Given the description of an element on the screen output the (x, y) to click on. 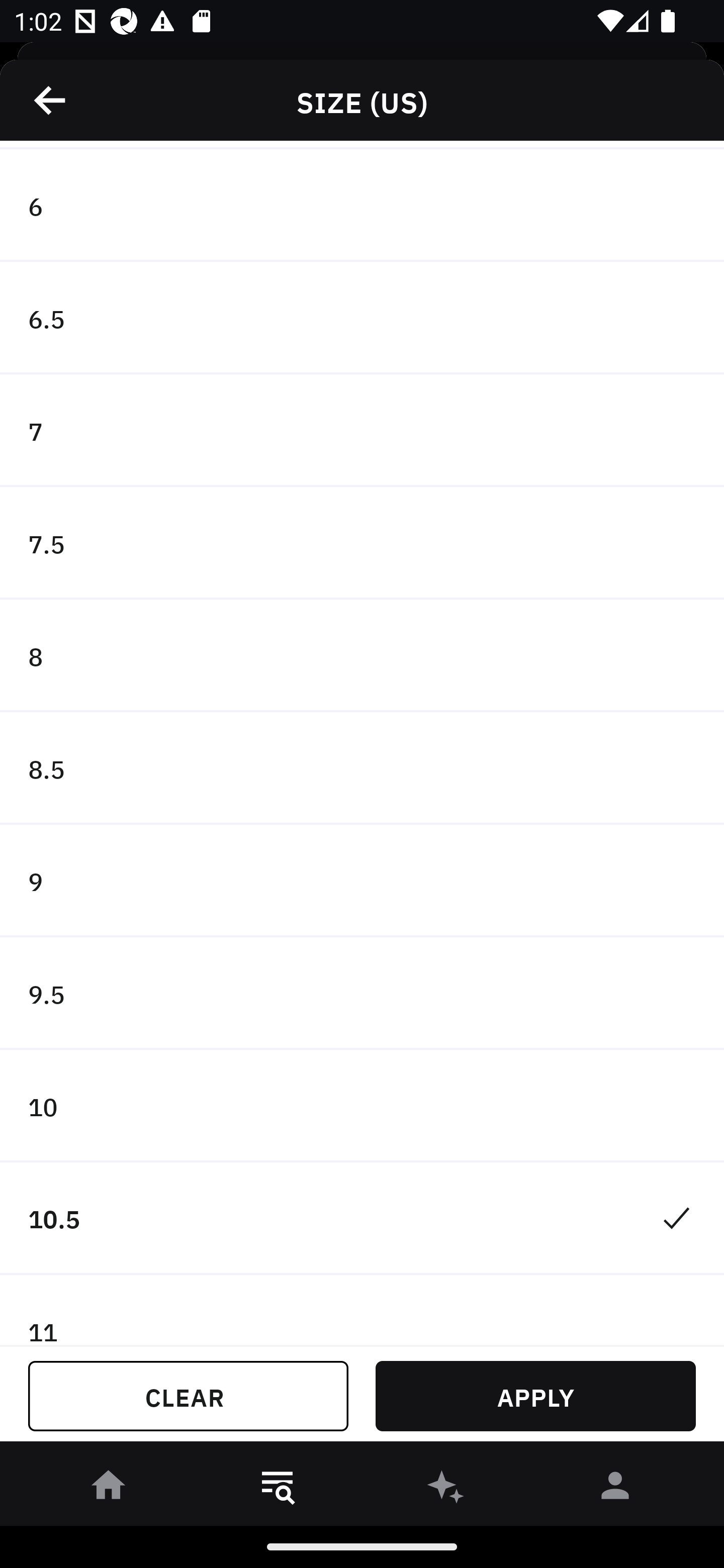
 (50, 100)
6 (362, 204)
6.5 (362, 317)
7 (362, 430)
7.5 (362, 542)
8 (362, 654)
8.5 (362, 767)
9 (362, 880)
9.5 (362, 993)
10 (362, 1105)
10.5  (362, 1217)
11 (362, 1309)
CLEAR  (188, 1396)
APPLY (535, 1396)
󰋜 (108, 1488)
󱎸 (277, 1488)
󰫢 (446, 1488)
󰀄 (615, 1488)
